Given the description of an element on the screen output the (x, y) to click on. 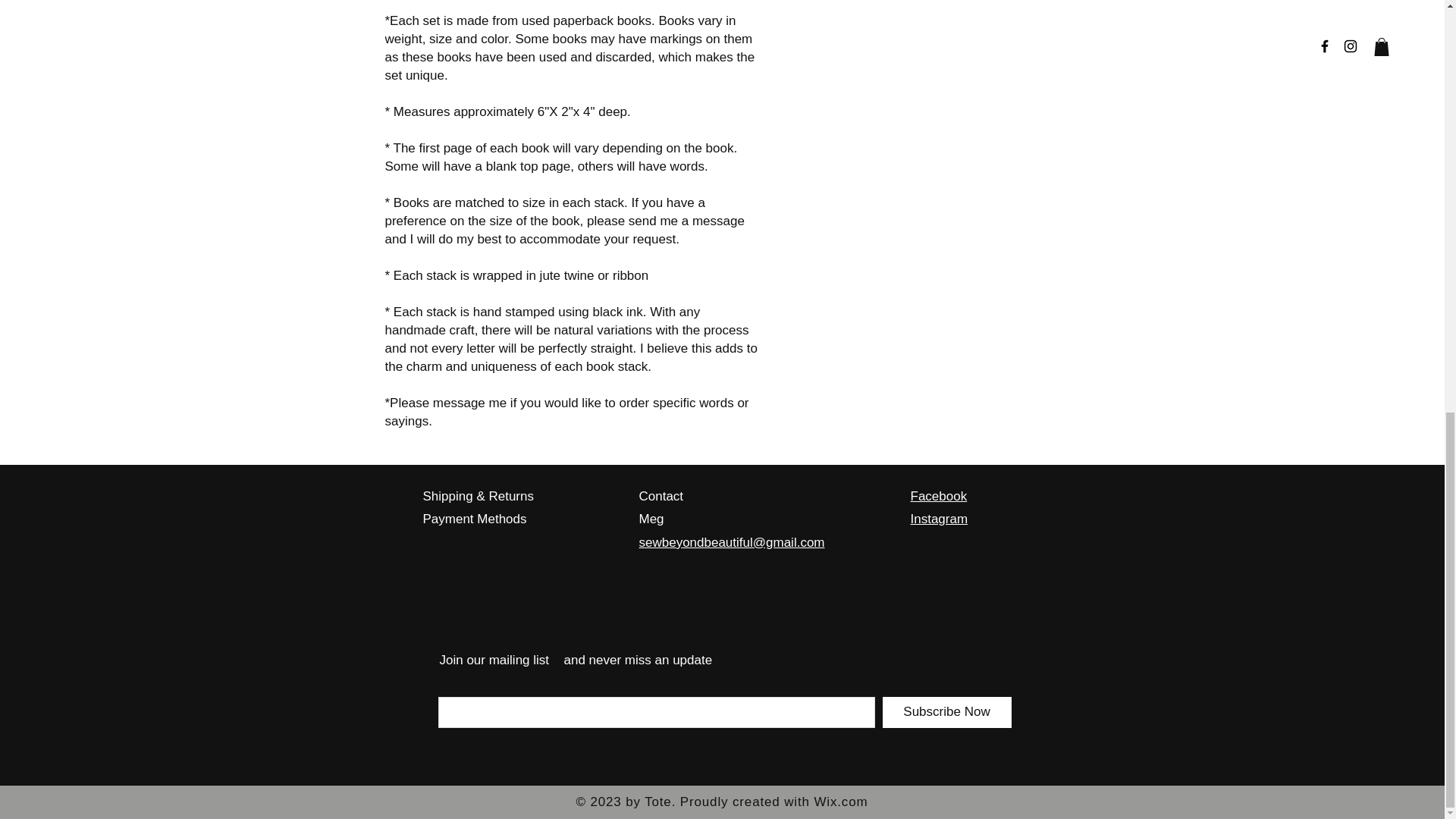
Payment Methods (475, 518)
Facebook (938, 495)
Instagram (939, 518)
Subscribe Now (946, 712)
Contact (660, 495)
Wix.com (840, 801)
